Given the description of an element on the screen output the (x, y) to click on. 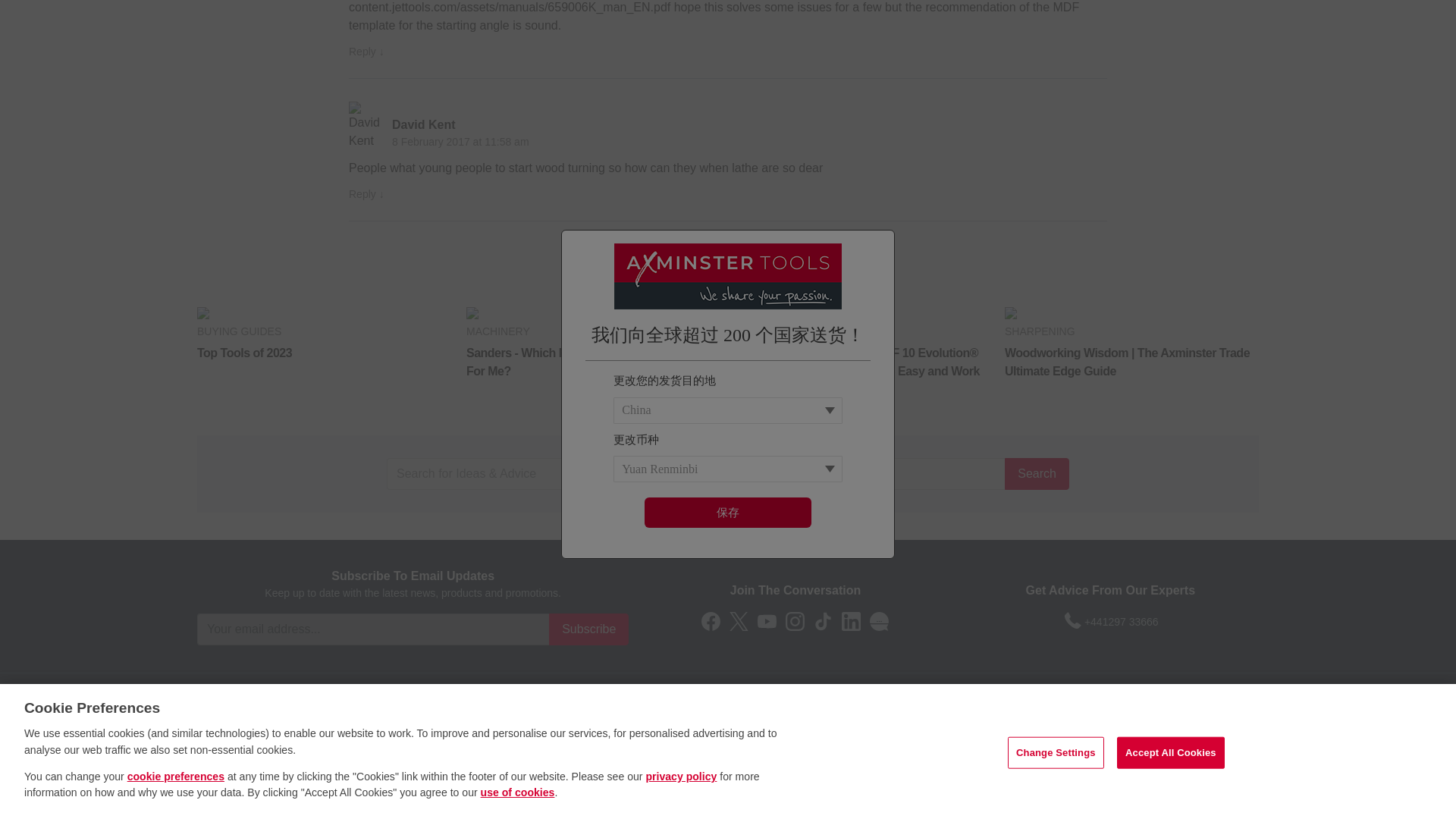
Facebook (710, 620)
Phone (1071, 620)
Community (878, 620)
LinkedIn (850, 620)
YouTube (766, 620)
Instagram (795, 620)
TikTok (822, 620)
